Given the description of an element on the screen output the (x, y) to click on. 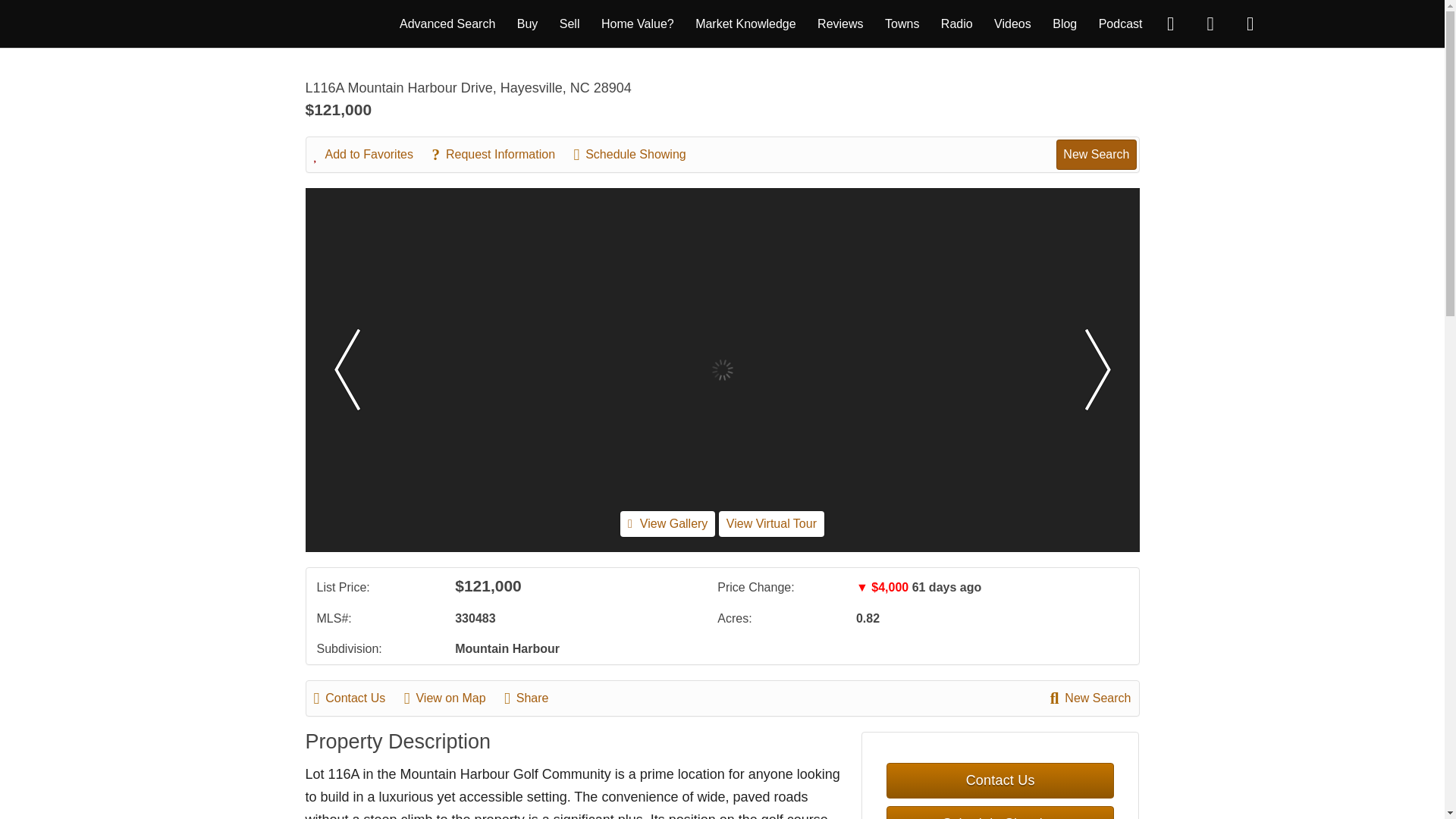
Videos (1012, 23)
Buy (527, 23)
New Search (1096, 154)
Market Knowledge (745, 23)
Blog (1064, 23)
Advanced Search (446, 23)
View Virtual Tour (771, 524)
View Gallery (667, 524)
Radio (956, 23)
View Virtual Tour (771, 522)
